Given the description of an element on the screen output the (x, y) to click on. 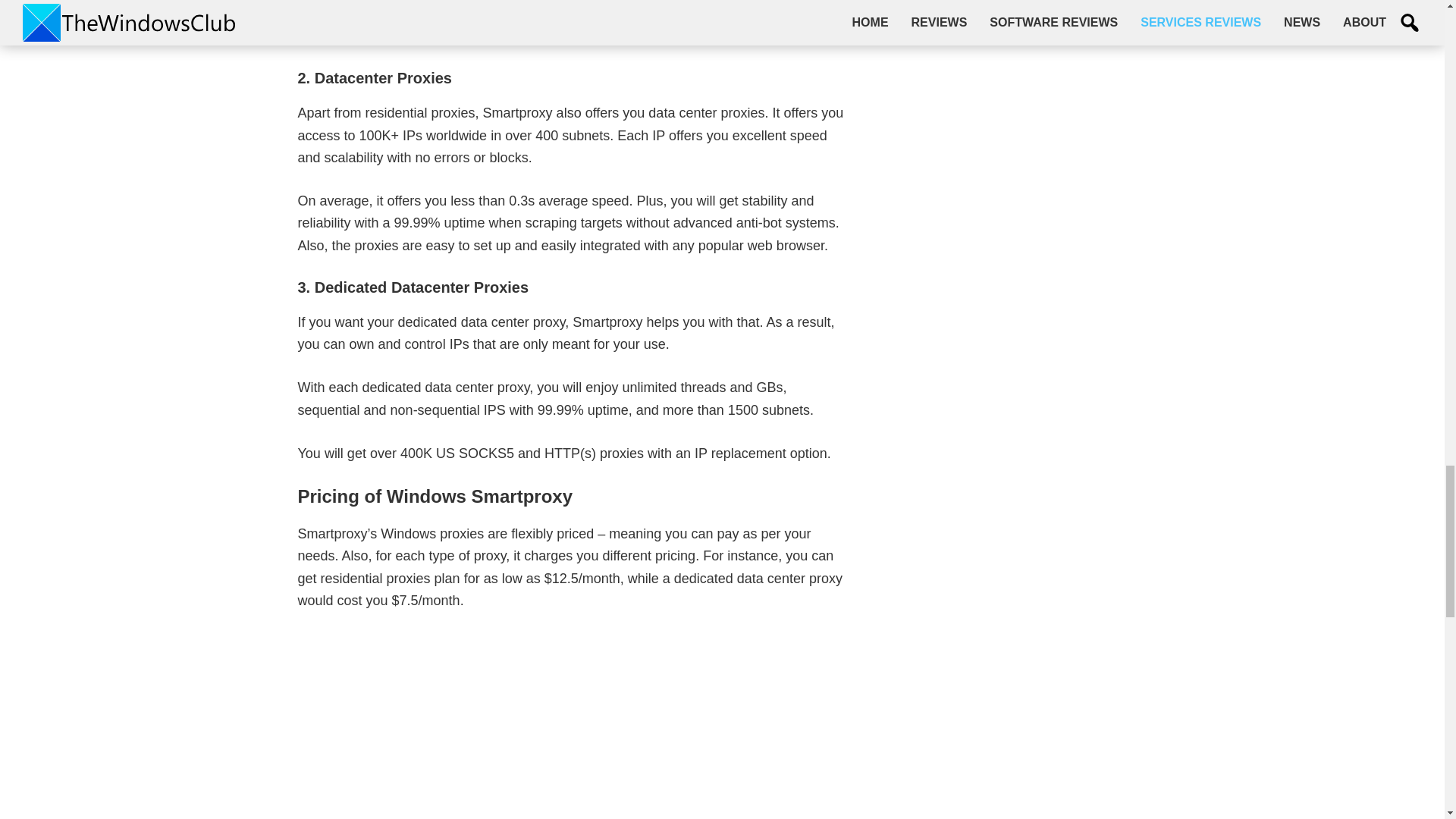
Residential Proxy Windows (572, 22)
Smartproxy Pricing (572, 726)
